Given the description of an element on the screen output the (x, y) to click on. 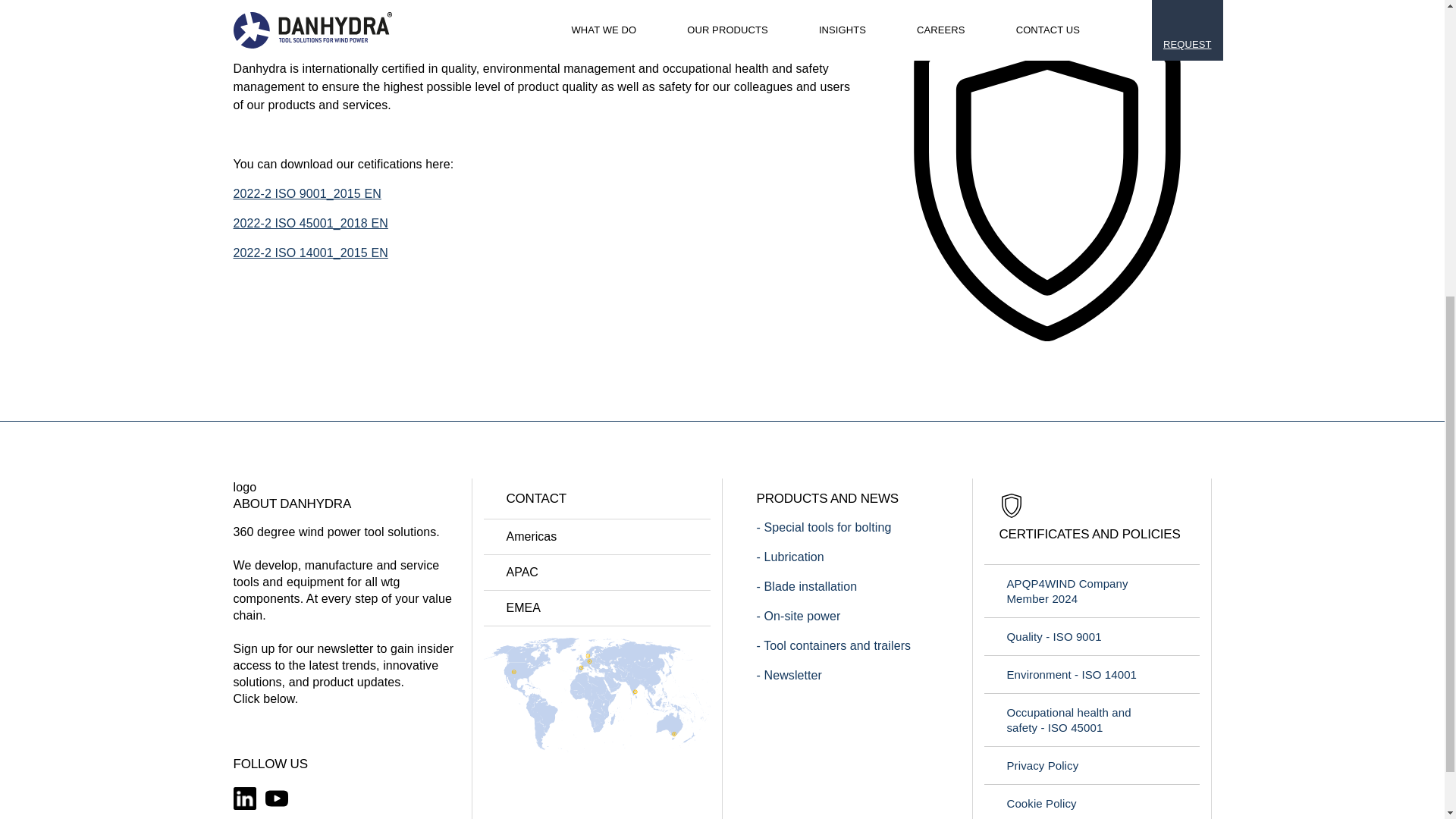
APAC (596, 572)
Americas (596, 536)
EMEA (596, 607)
